Given the description of an element on the screen output the (x, y) to click on. 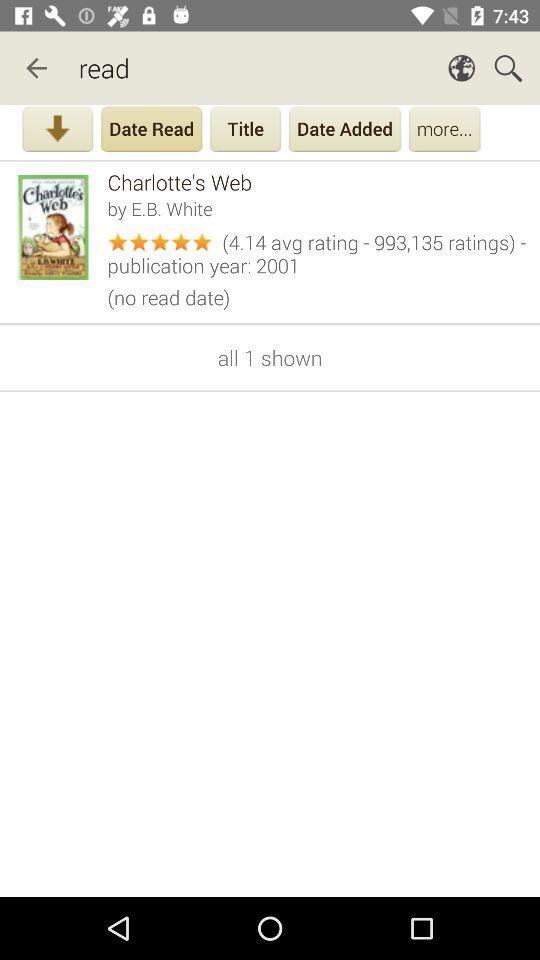
choose charlotte's web item (316, 182)
